Given the description of an element on the screen output the (x, y) to click on. 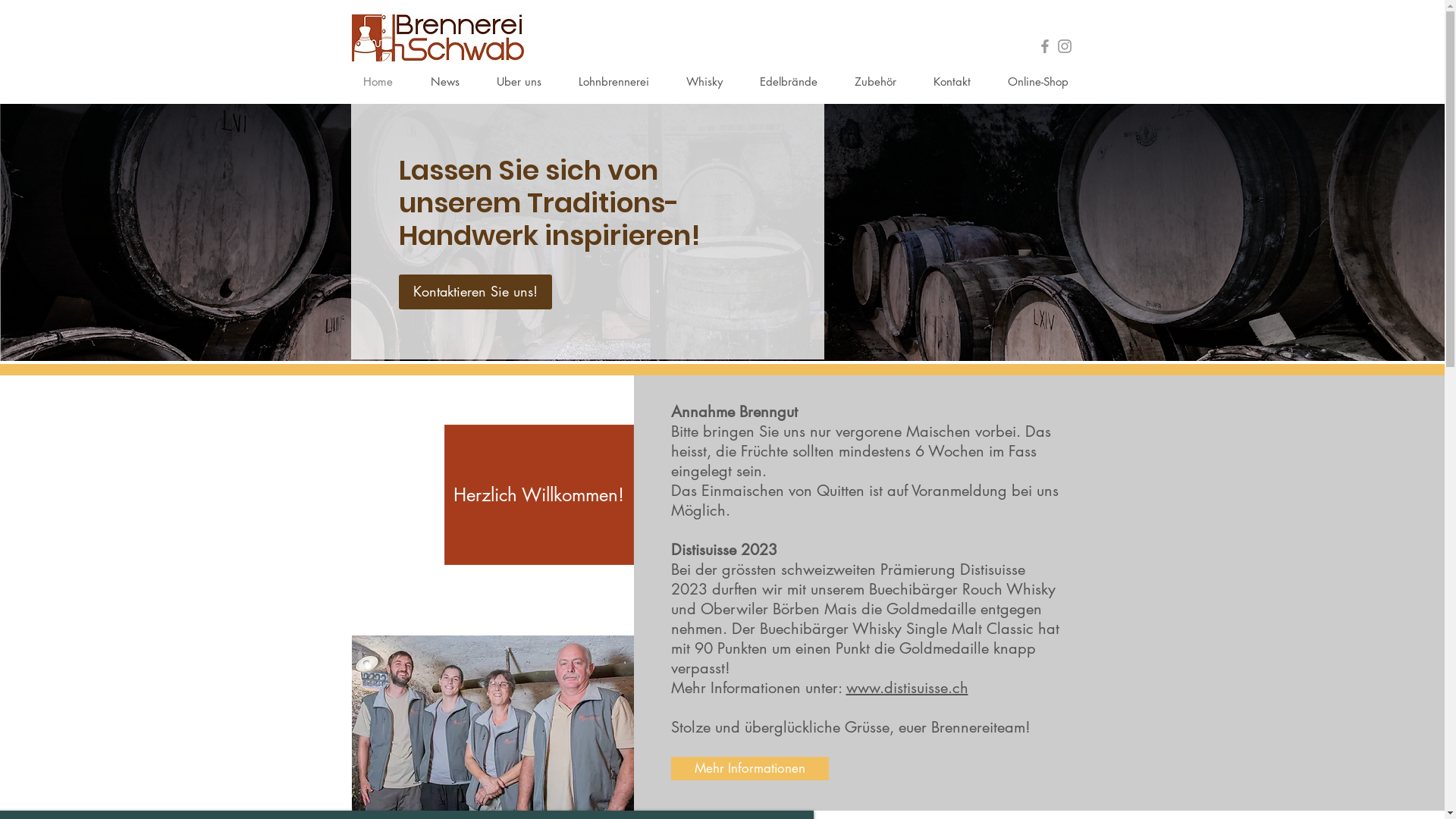
Home Element type: text (385, 81)
Kontakt Element type: text (959, 81)
Whisky Element type: text (711, 81)
Mehr Informationen Element type: text (749, 768)
www.distisuisse.ch Element type: text (907, 687)
News Element type: text (451, 81)
Kontaktieren Sie uns! Element type: text (475, 291)
Online-Shop Element type: text (1045, 81)
Lohnbrennerei Element type: text (620, 81)
Herzlich Willkommen! Element type: text (538, 494)
